Given the description of an element on the screen output the (x, y) to click on. 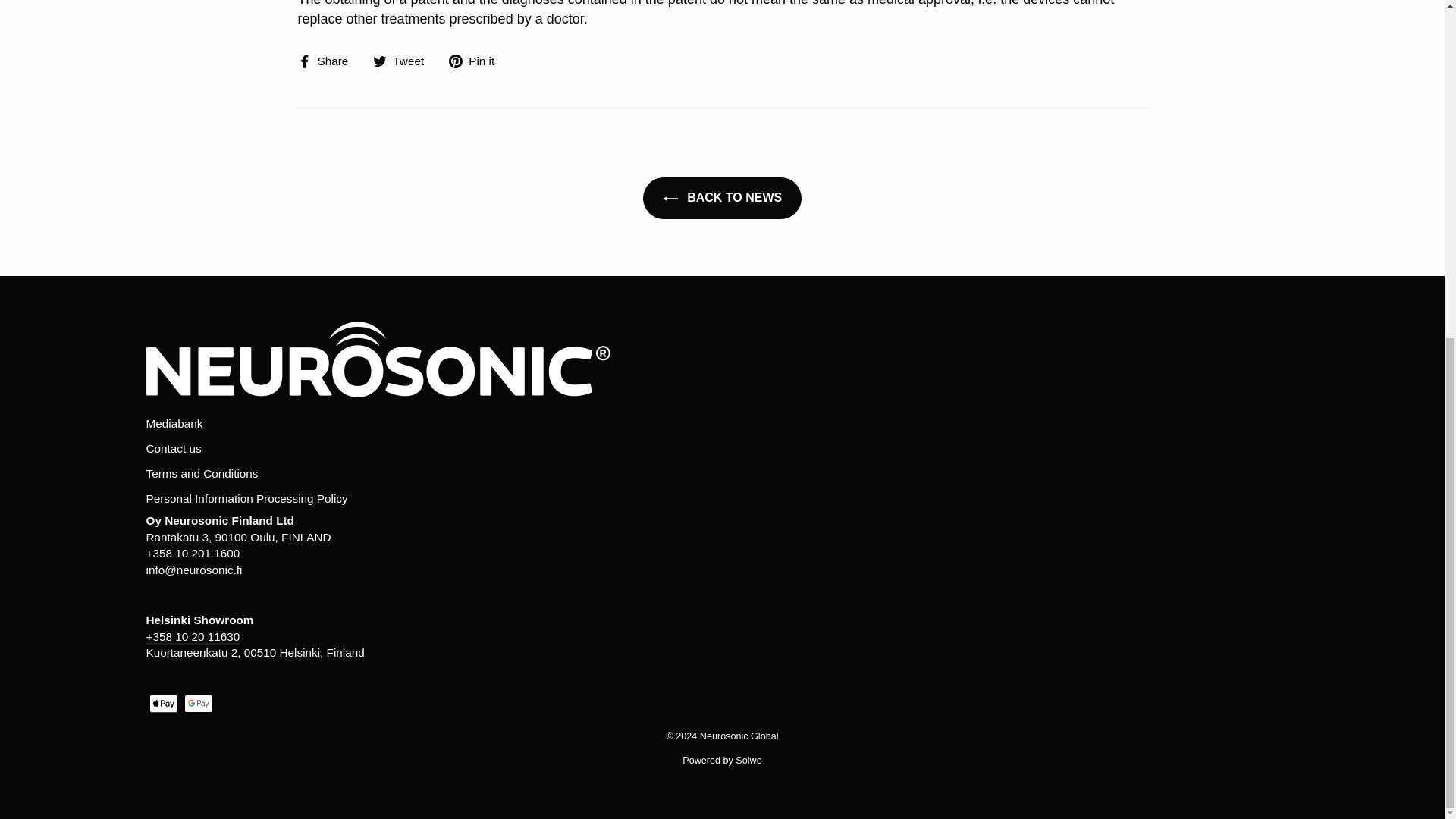
Tweet on Twitter (403, 60)
Share on Facebook (328, 60)
Apple Pay (162, 703)
Pin on Pinterest (476, 60)
Google Pay (197, 703)
